Given the description of an element on the screen output the (x, y) to click on. 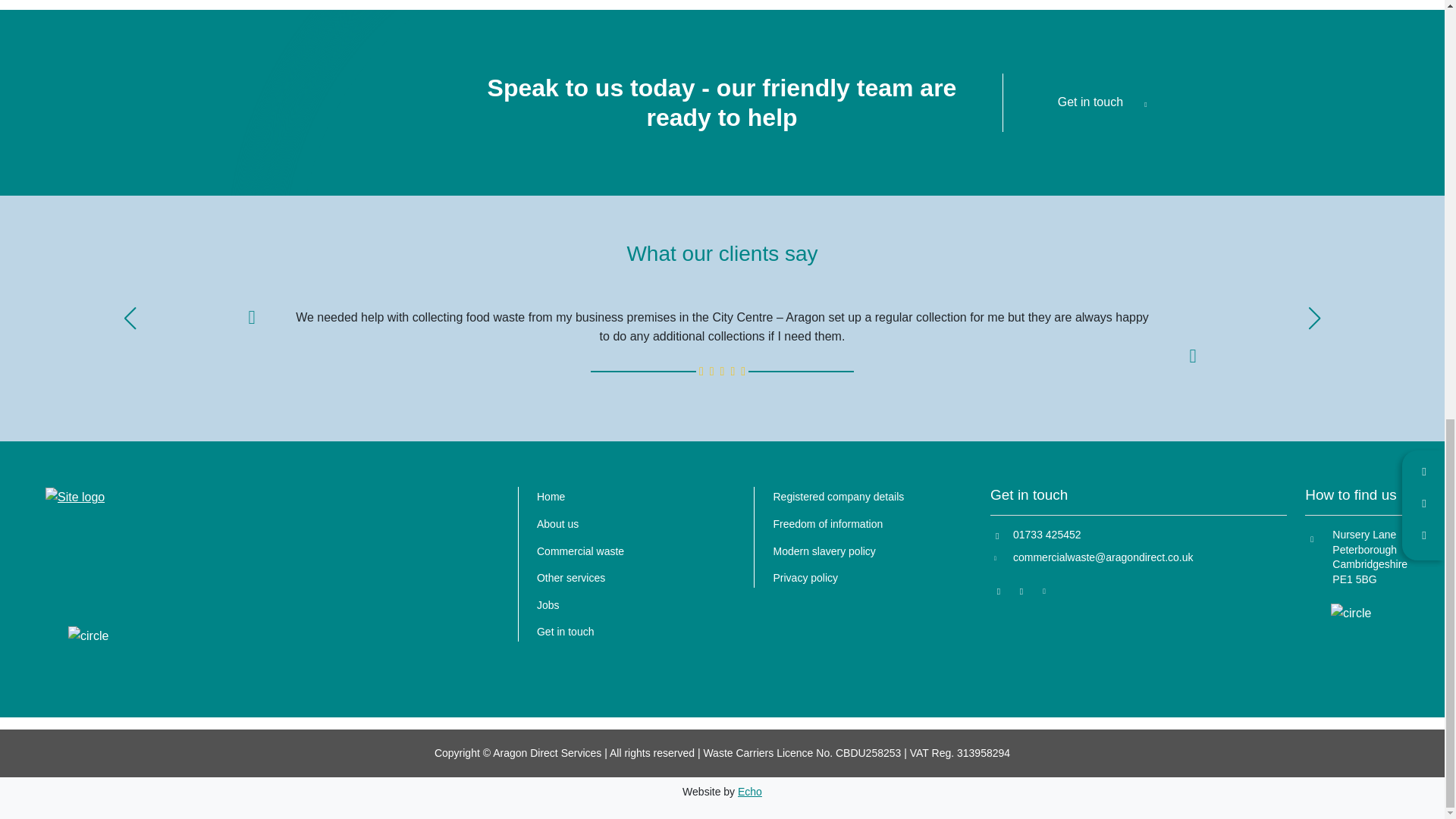
Call us (1135, 534)
Email us (1135, 557)
Home (551, 496)
Get in touch (1106, 101)
